Given the description of an element on the screen output the (x, y) to click on. 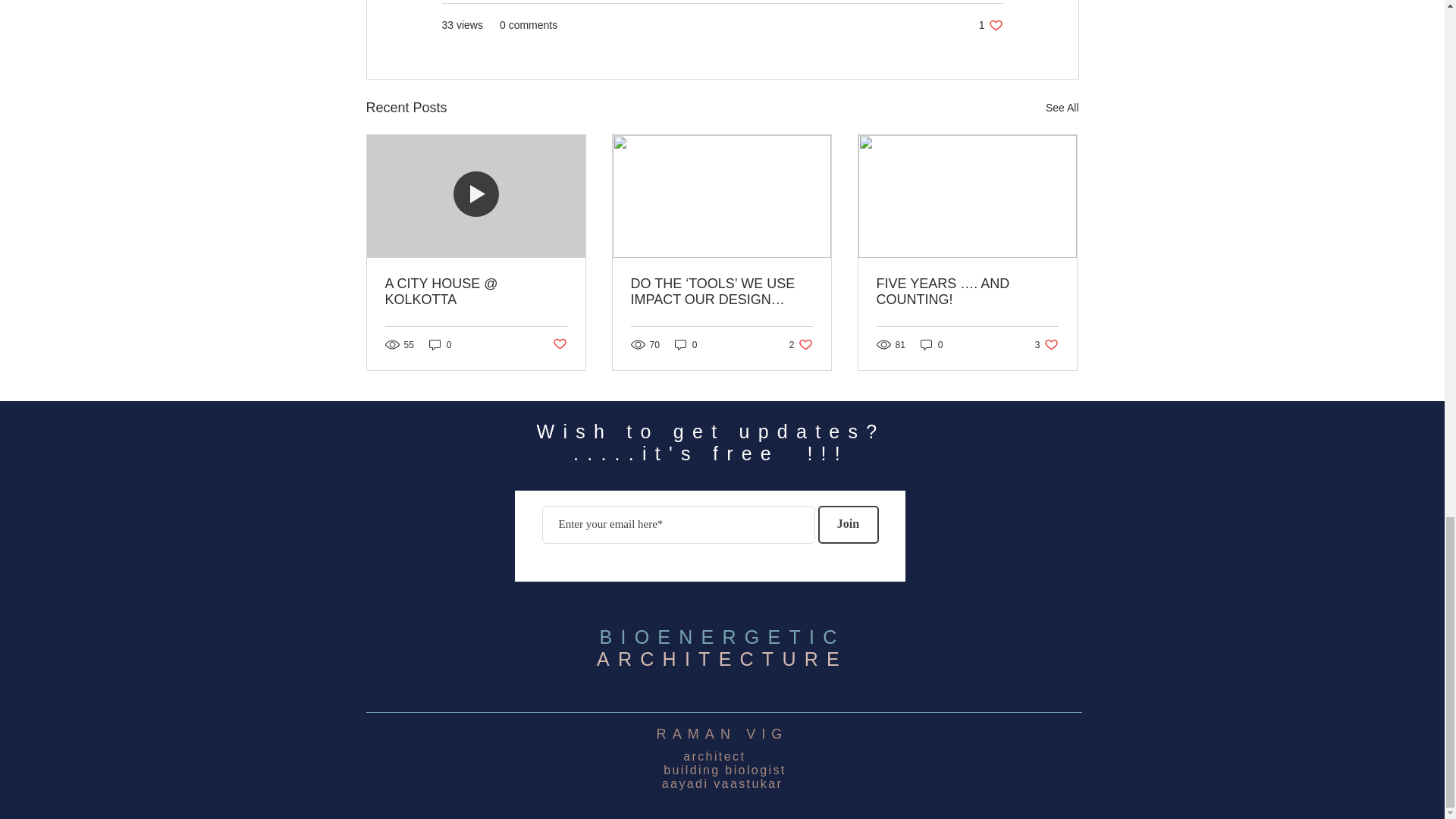
0 (1046, 344)
See All (931, 344)
ARCHITECTURE (1061, 107)
0 (721, 658)
0 (685, 344)
Join (800, 344)
BIOENERGETIC (440, 344)
Post not marked as liked (846, 523)
